Given the description of an element on the screen output the (x, y) to click on. 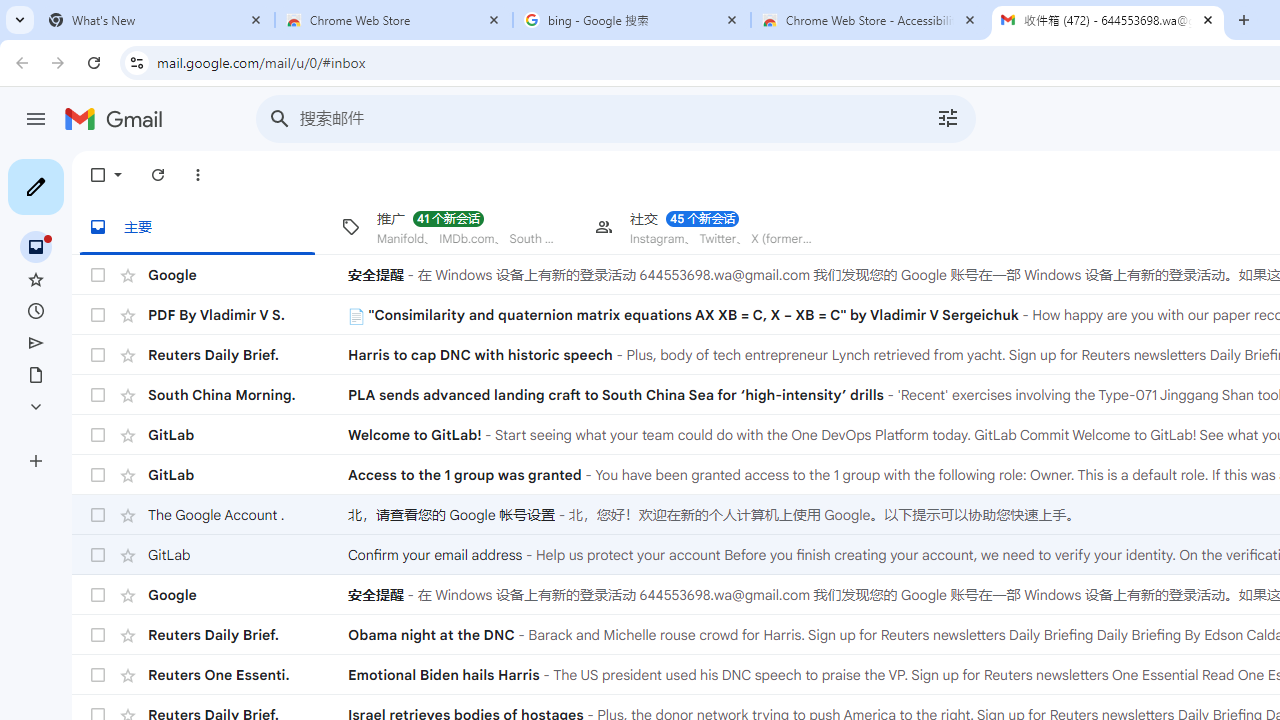
What's New (156, 20)
Search tabs (20, 20)
